Given the description of an element on the screen output the (x, y) to click on. 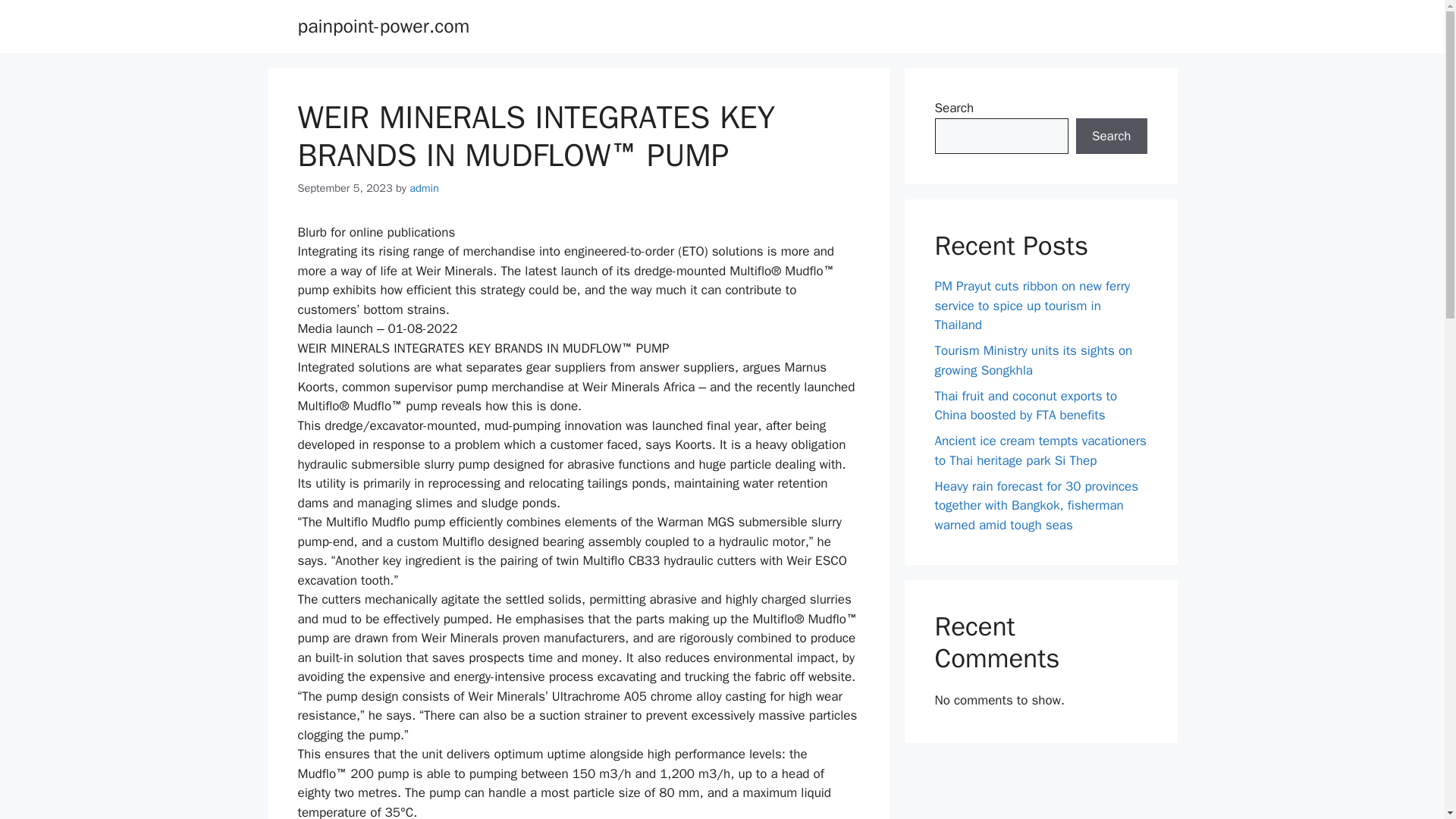
View all posts by admin (424, 187)
Search (1111, 135)
Tourism Ministry units its sights on growing Songkhla (1033, 360)
admin (424, 187)
painpoint-power.com (382, 25)
